Given the description of an element on the screen output the (x, y) to click on. 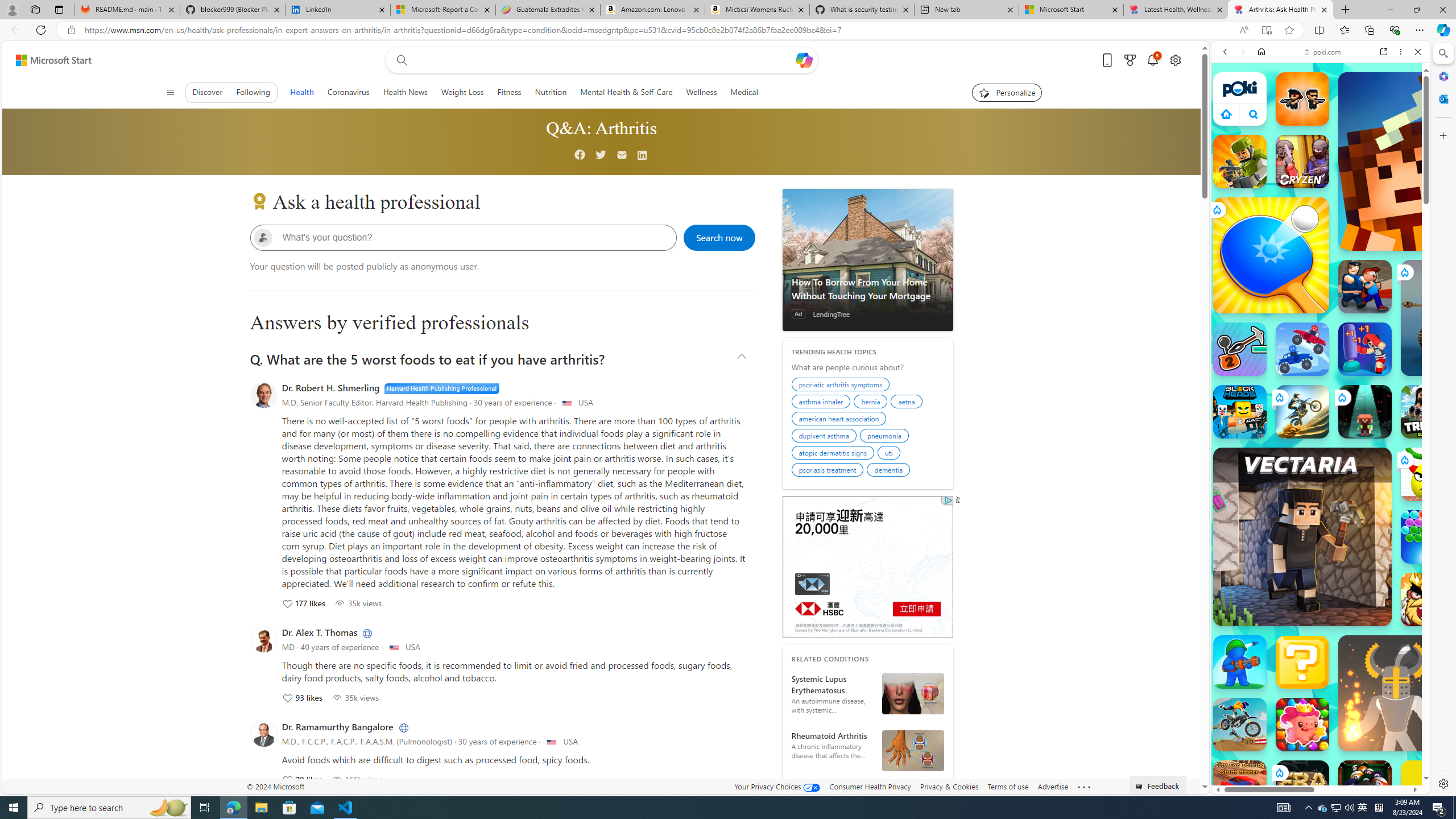
Health News (405, 92)
hernia (872, 402)
Punch Legend Simulator (1364, 348)
78 Like; Click to Like (301, 779)
Show More Car Games (1390, 268)
psoriasis treatment (828, 470)
Car Games (1320, 267)
Crazy Bikes (1239, 724)
Shooting Games (1320, 295)
Bubble Shooter Bubble Shooter (1427, 536)
